Given the description of an element on the screen output the (x, y) to click on. 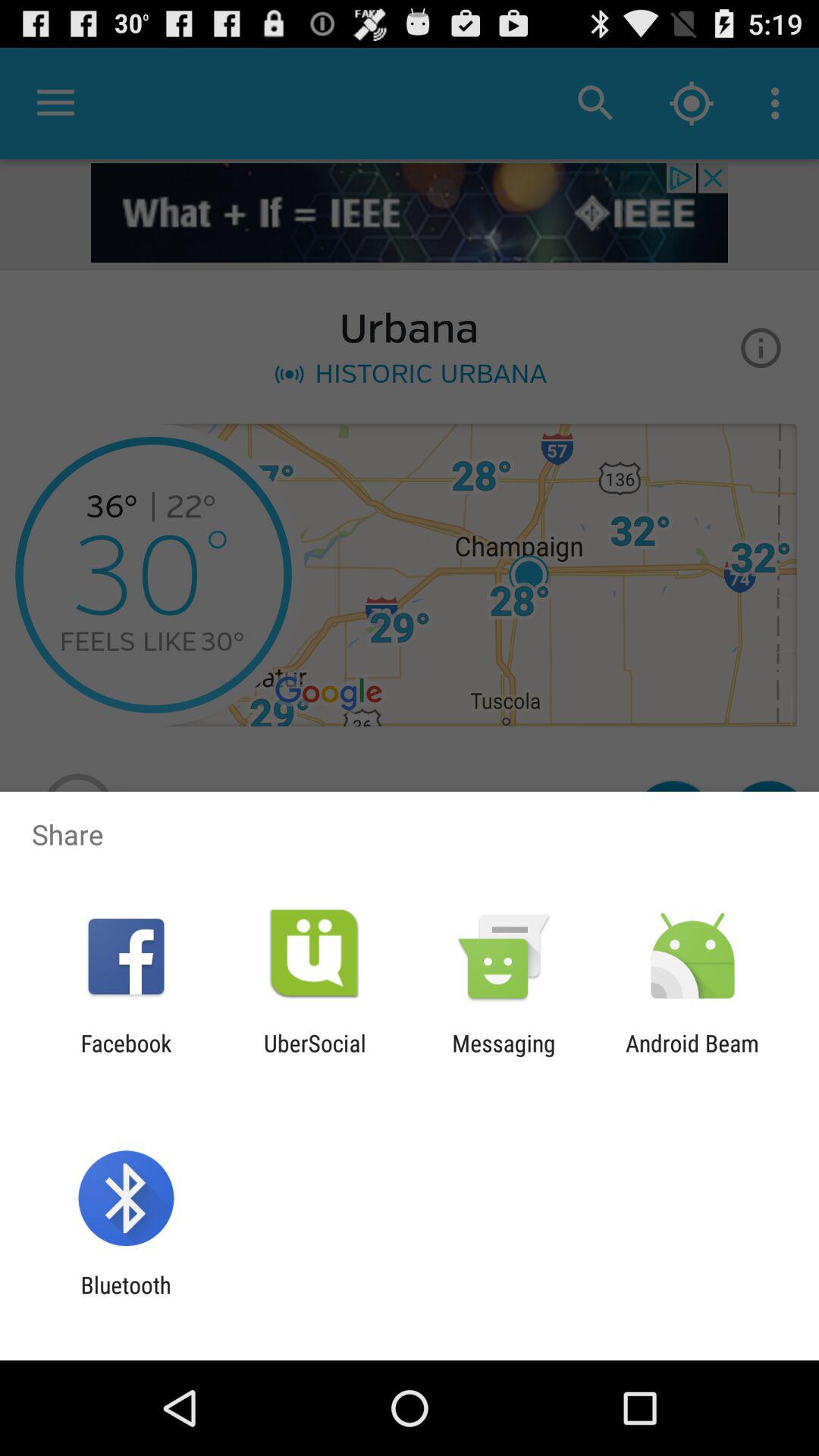
scroll until ubersocial item (314, 1056)
